Given the description of an element on the screen output the (x, y) to click on. 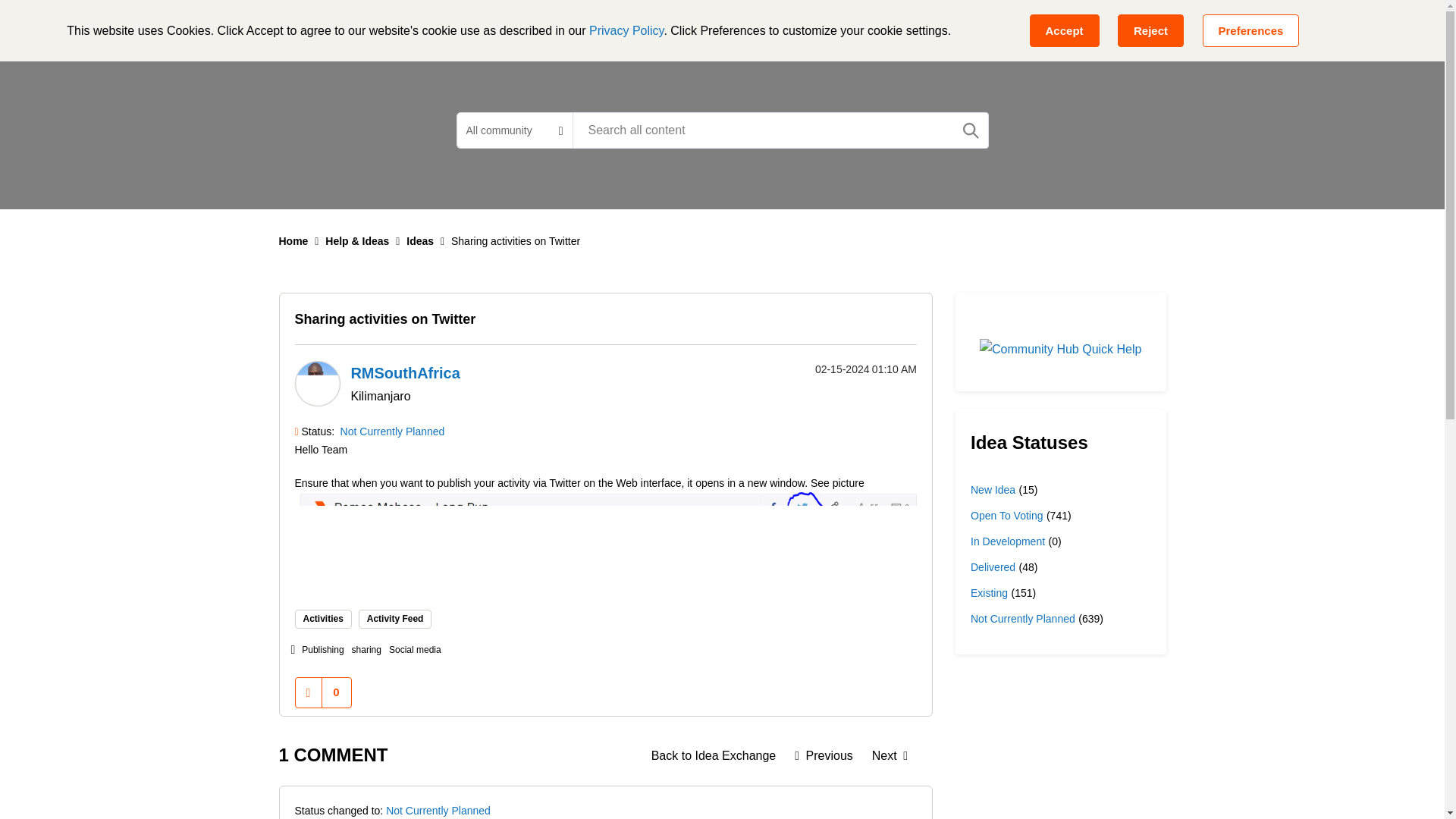
Posted on (845, 369)
Reject (1150, 30)
RMSouthAfrica (405, 372)
Privacy Policy (626, 30)
Search Granularity (514, 130)
RMSouthAfrica (316, 383)
Strava Community Hub (363, 25)
Basecamp (497, 25)
Accept (1064, 30)
Developers (680, 25)
